Given the description of an element on the screen output the (x, y) to click on. 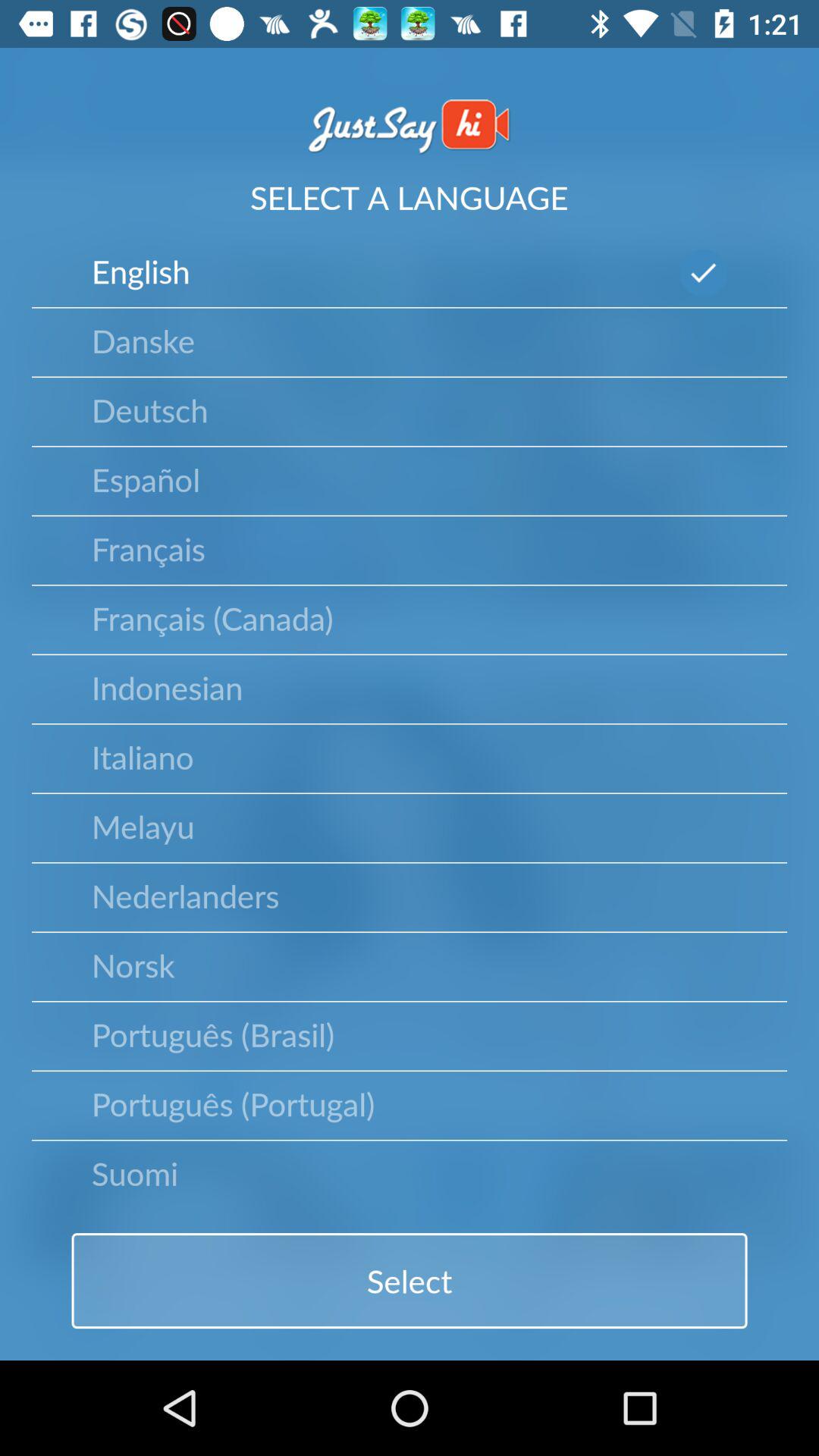
open the item to the right of english item (703, 272)
